Given the description of an element on the screen output the (x, y) to click on. 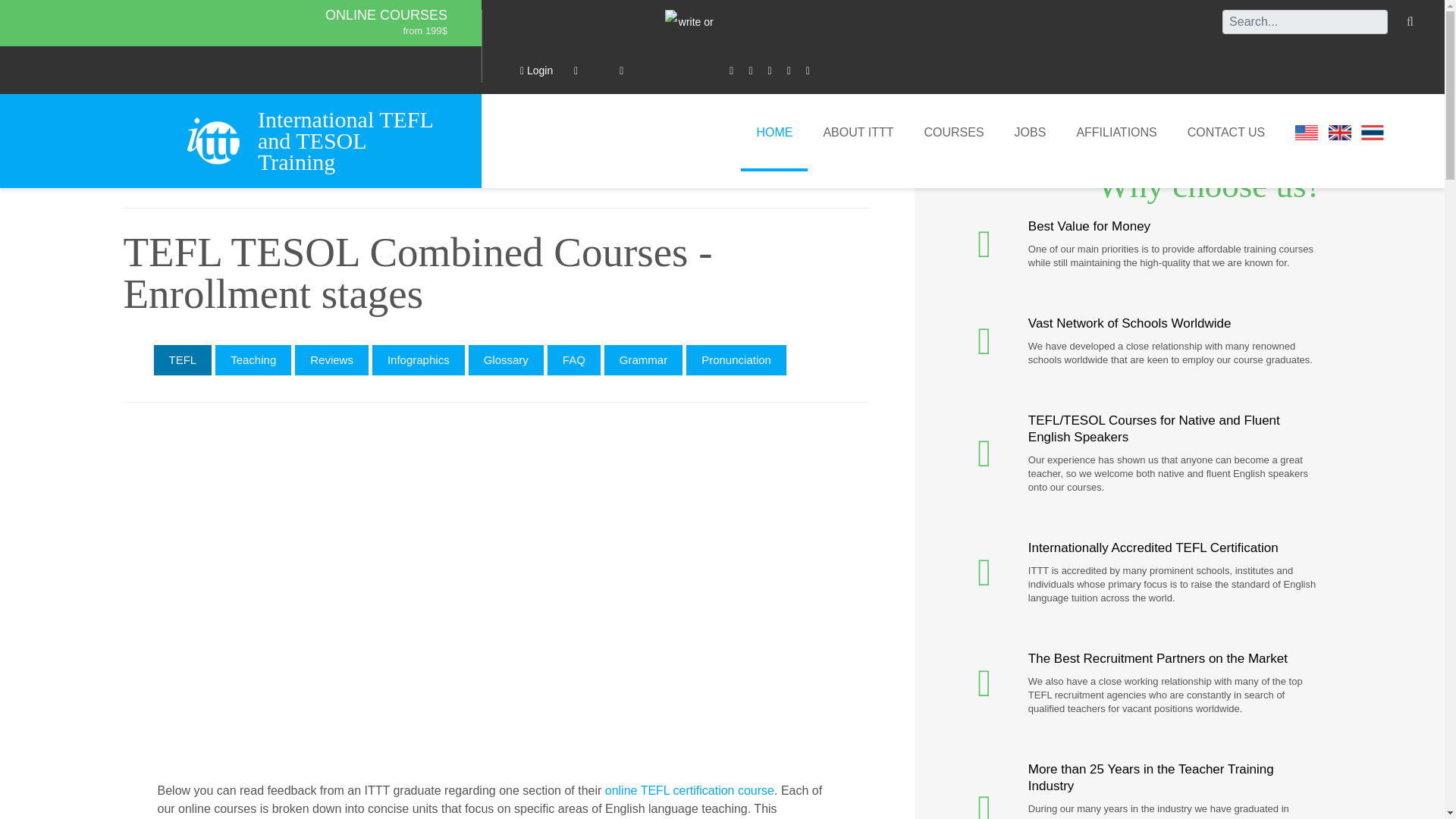
ABOUT ITTT (858, 131)
HOME (774, 131)
AFFILIATIONS (1116, 131)
Login (536, 70)
JOBS (1029, 131)
Thailand Office (1372, 132)
COURSES (953, 131)
UK Office (1339, 132)
USA Office (1306, 132)
International TEFL and TESOL Training (351, 140)
ONLINE COURSES (385, 14)
CONTACT US (1226, 131)
